Given the description of an element on the screen output the (x, y) to click on. 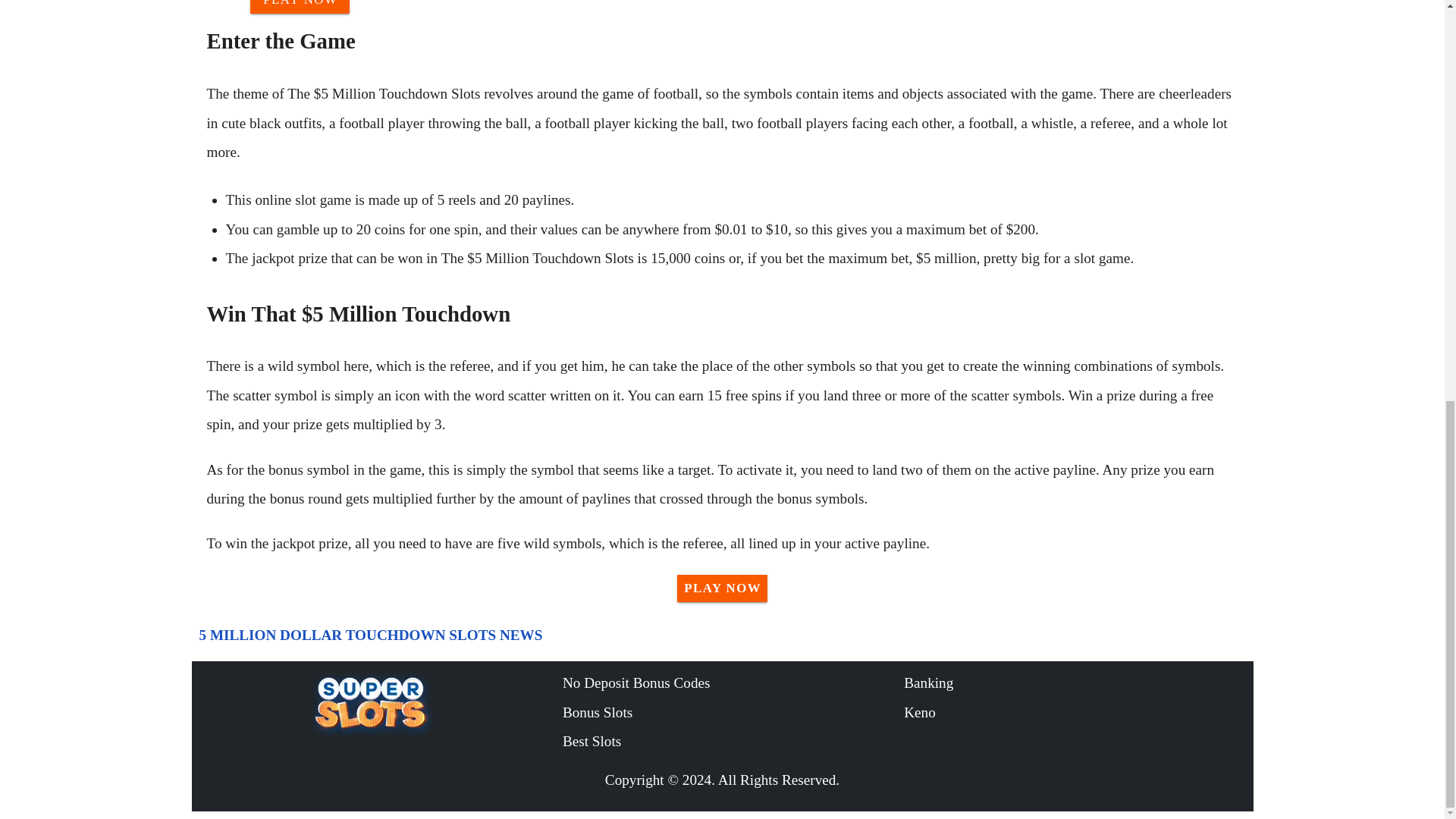
No Deposit Bonus Codes (733, 683)
PLAY NOW (722, 587)
Keno (1074, 712)
Banking (1074, 683)
Best Slots (733, 741)
PLAY NOW (300, 6)
Bonus Slots (733, 712)
